Given the description of an element on the screen output the (x, y) to click on. 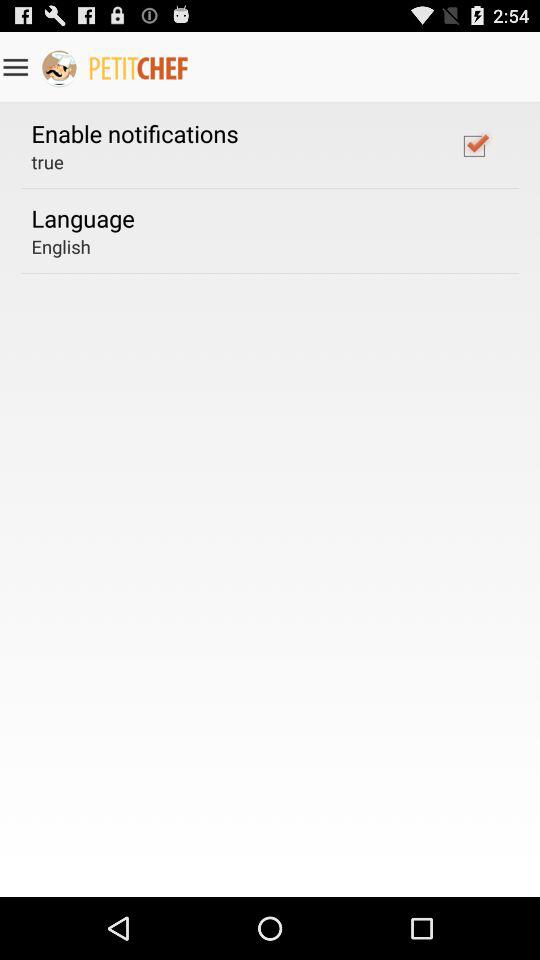
click the item above the english app (82, 218)
